Given the description of an element on the screen output the (x, y) to click on. 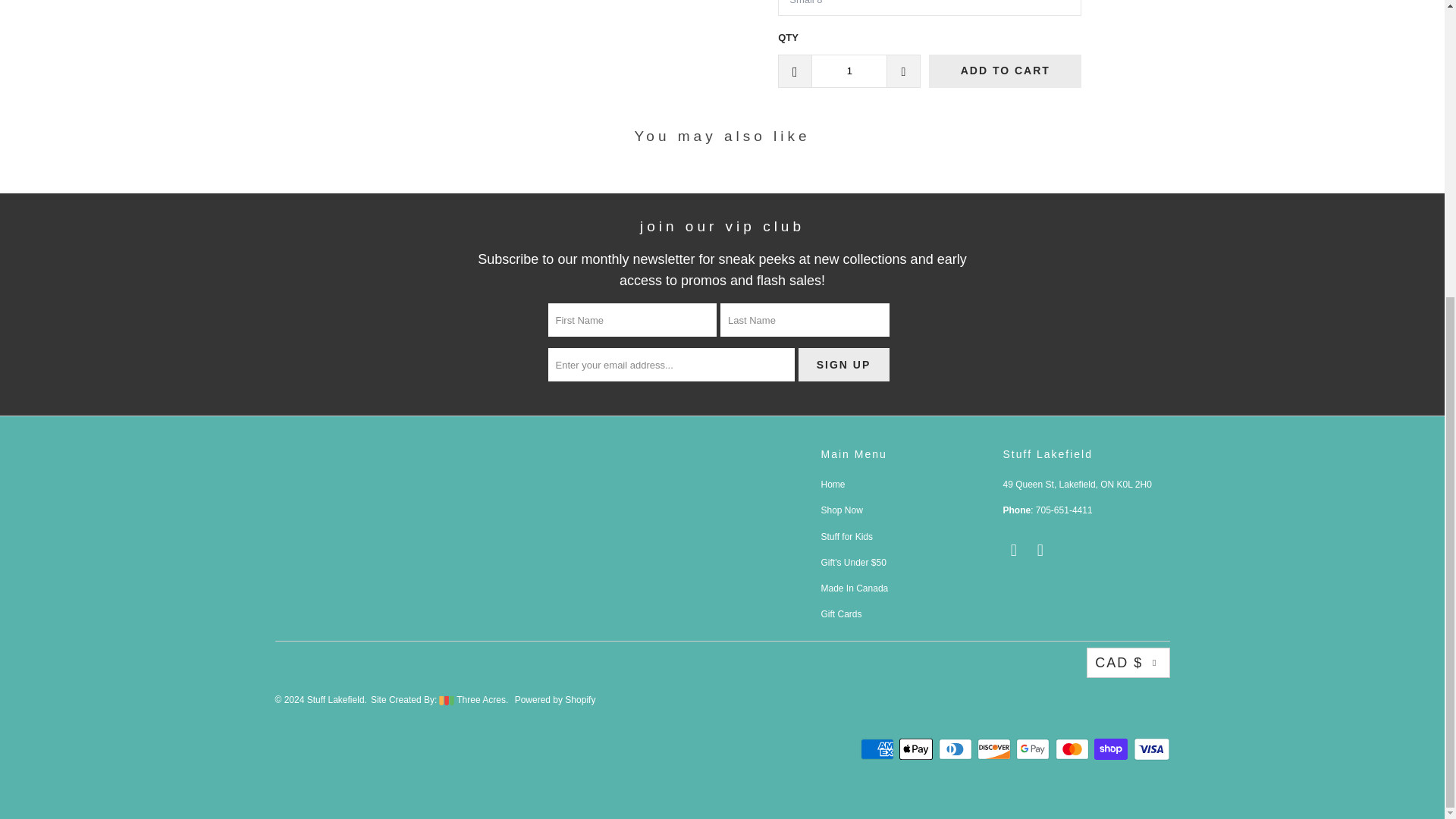
Mastercard (1073, 748)
Apple Pay (917, 748)
Stuff Lakefield on Instagram (1040, 550)
1 (848, 70)
American Express (878, 748)
Shop Pay (1112, 748)
Diners Club (957, 748)
Visa (1150, 748)
Google Pay (1034, 748)
Sign Up (842, 364)
